Given the description of an element on the screen output the (x, y) to click on. 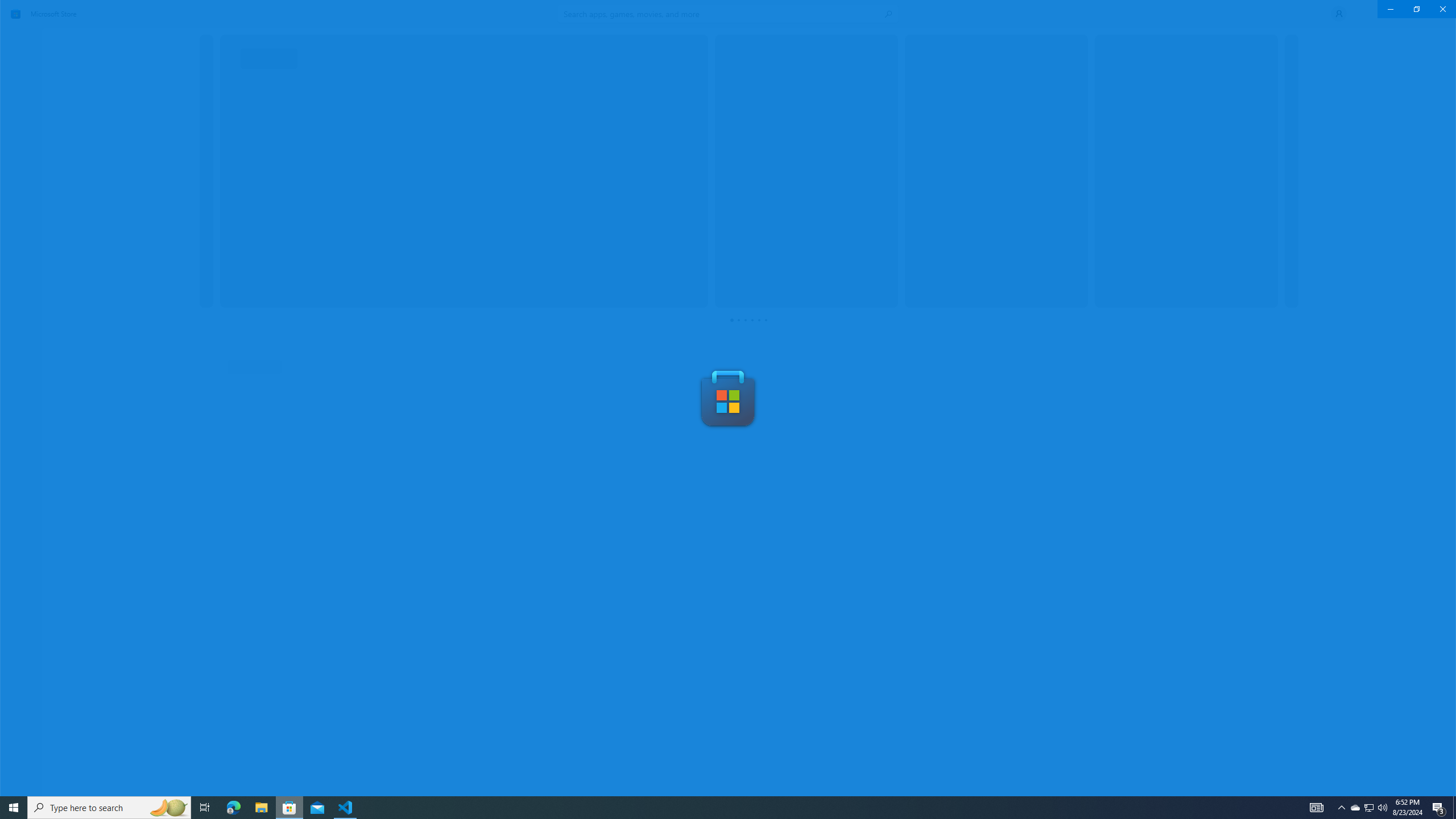
Class: Hyperlink (229, 730)
AutomationID: NavigationControl (728, 398)
Search (727, 13)
Pager (749, 319)
